Given the description of an element on the screen output the (x, y) to click on. 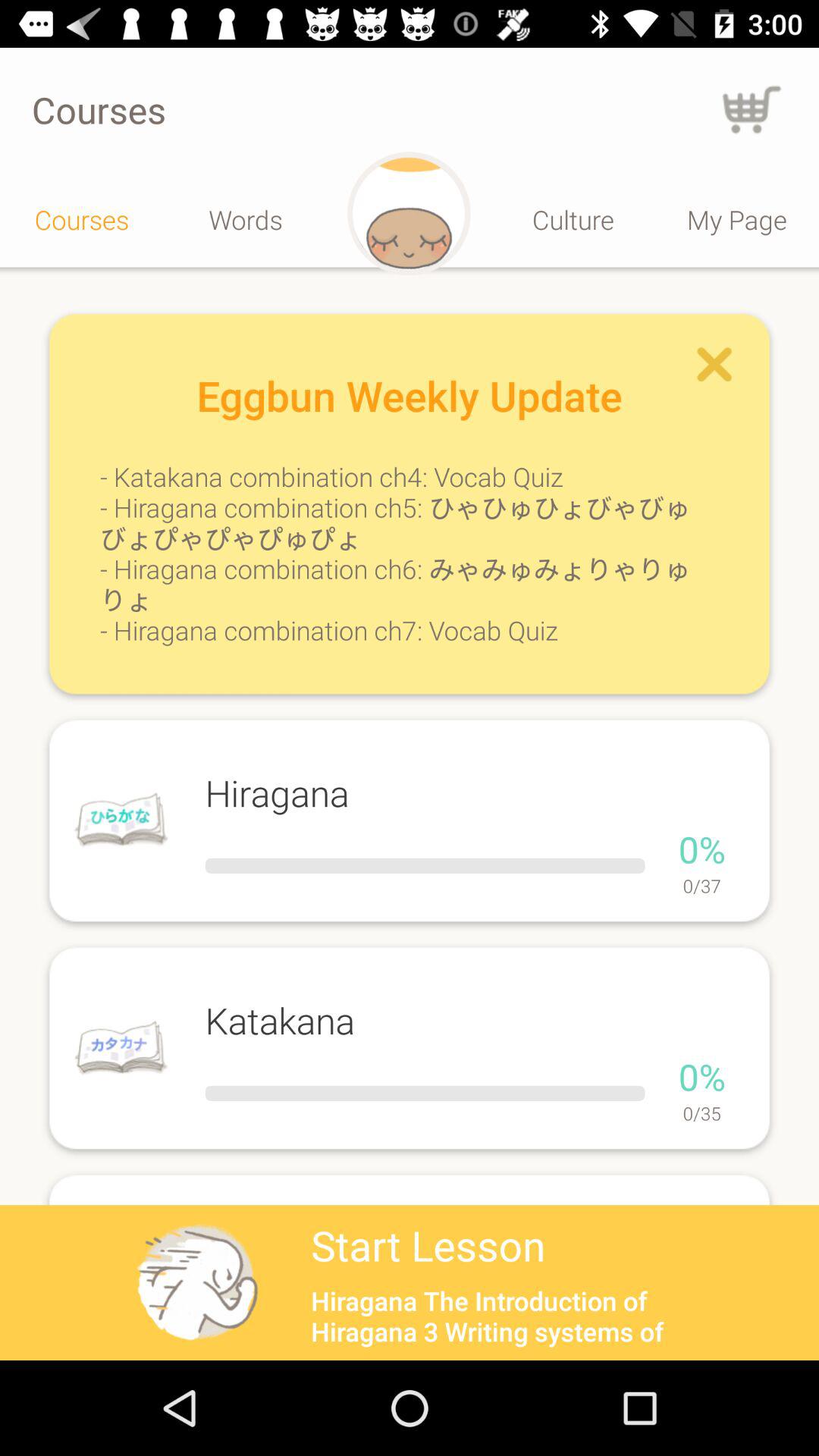
close (714, 364)
